Given the description of an element on the screen output the (x, y) to click on. 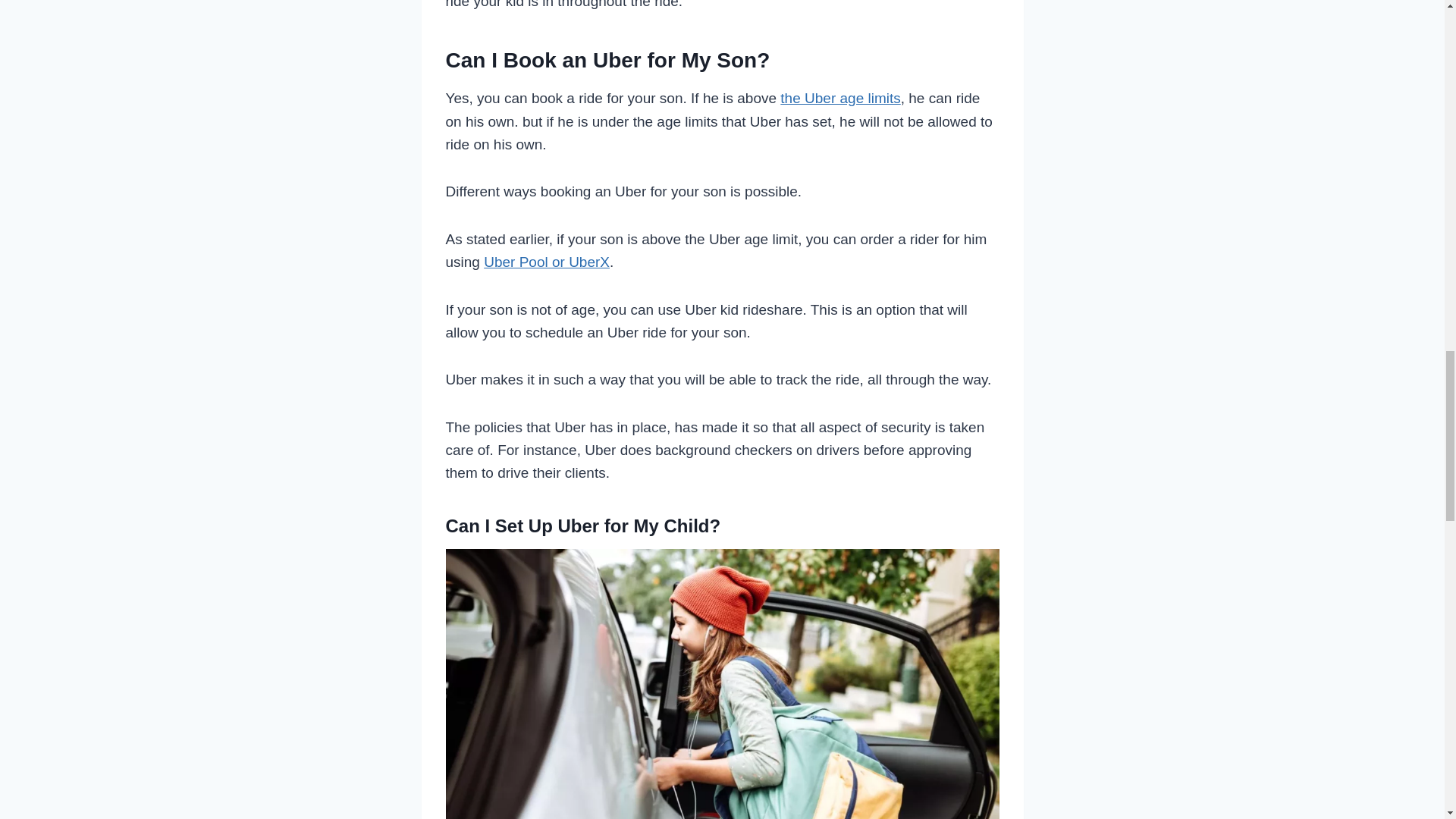
the Uber age limits (839, 98)
Uber Pool or UberX (546, 261)
